Given the description of an element on the screen output the (x, y) to click on. 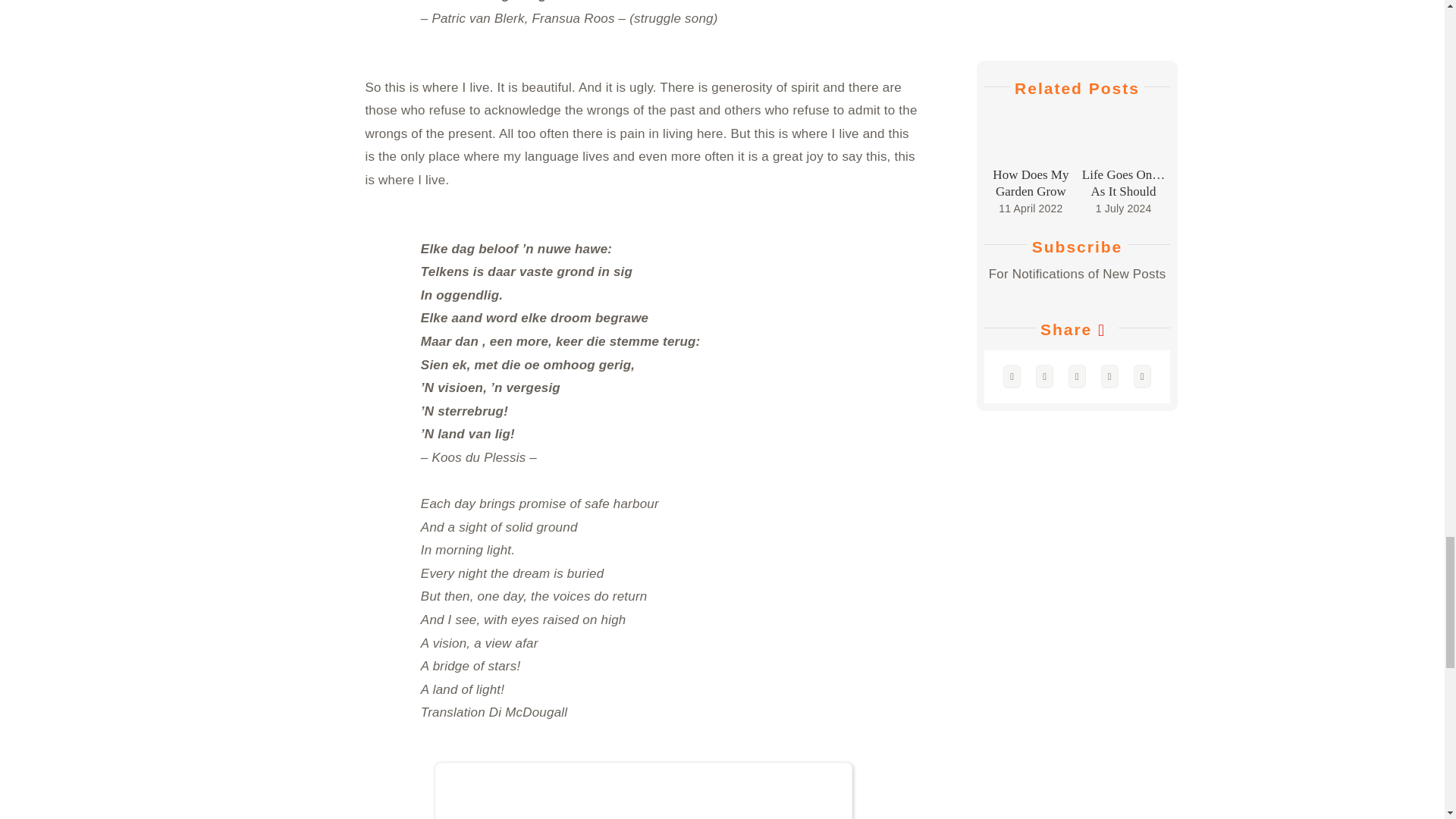
mist (643, 790)
